Given the description of an element on the screen output the (x, y) to click on. 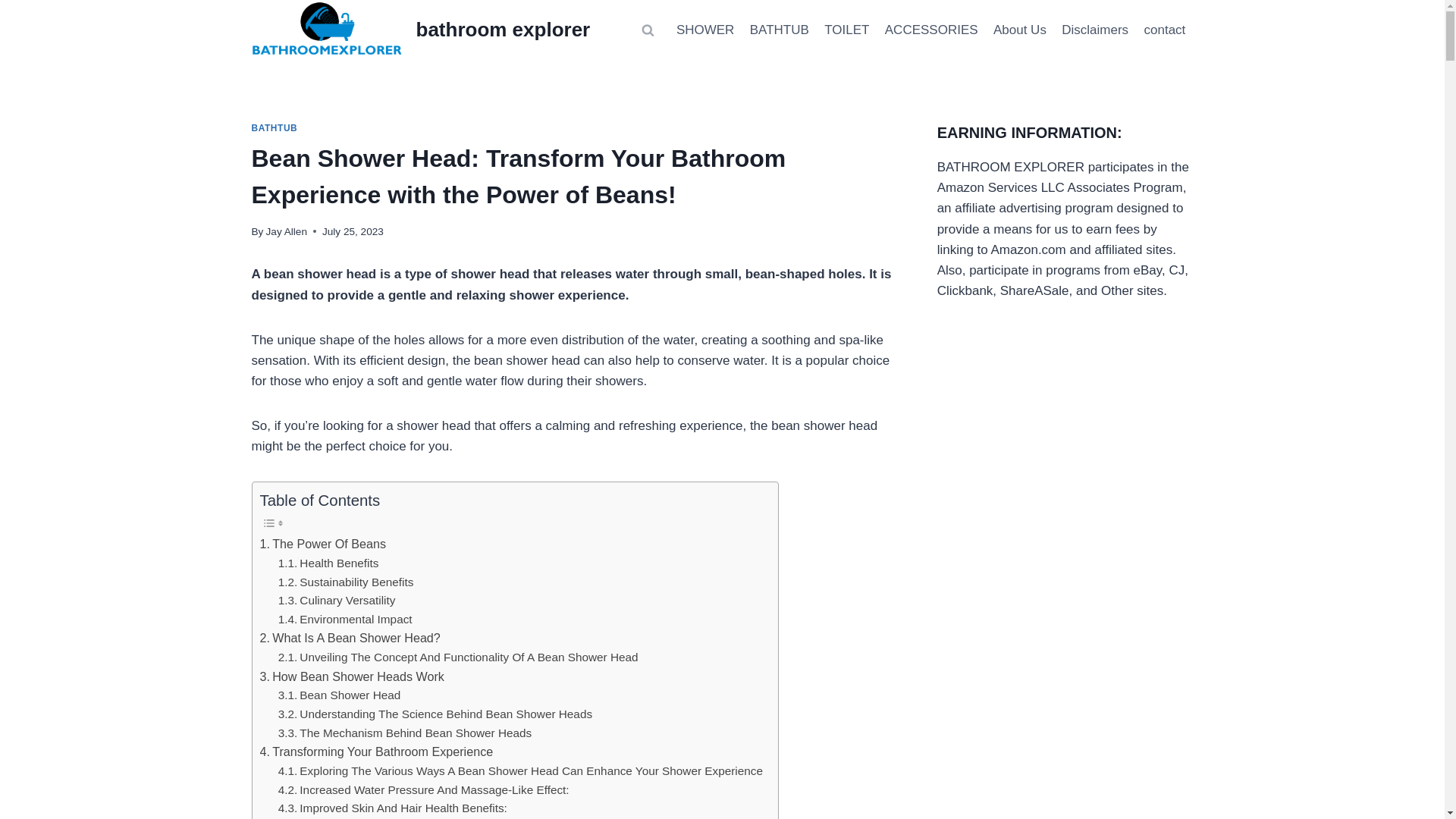
ACCESSORIES (931, 30)
Improved Skin And Hair Health Benefits: (392, 808)
Health Benefits (328, 563)
Increased Water Pressure And Massage-Like Effect: (423, 790)
TOILET (846, 30)
How Bean Shower Heads Work (351, 677)
Increased Water Pressure And Massage-Like Effect: (423, 790)
The Mechanism Behind Bean Shower Heads (405, 732)
BATHTUB (779, 30)
How Bean Shower Heads Work (351, 677)
The Power Of Beans (322, 544)
What Is A Bean Shower Head? (349, 638)
